Given the description of an element on the screen output the (x, y) to click on. 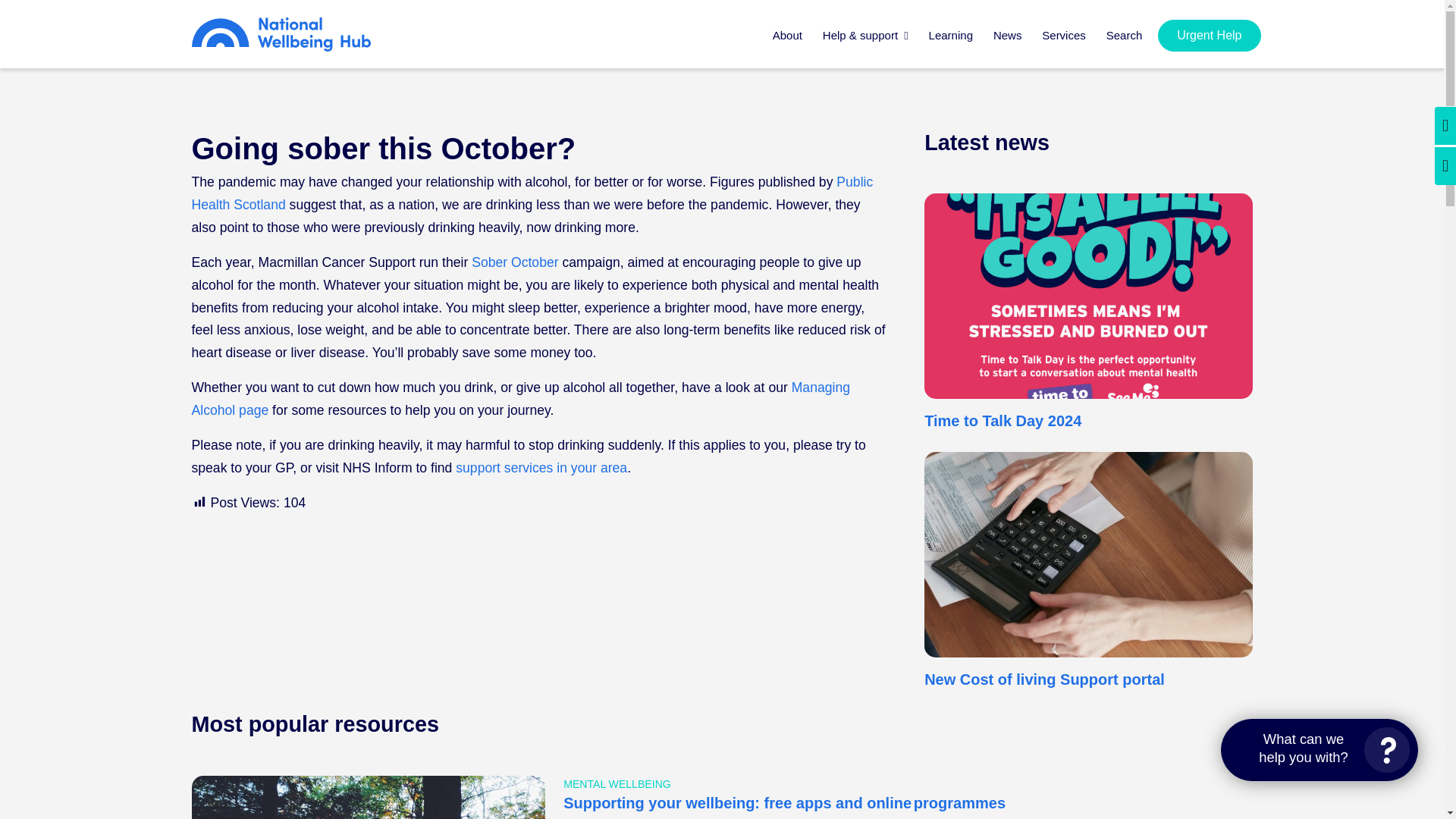
Learning (950, 44)
What can we help you with? (1319, 750)
Managing Alcohol page (519, 398)
support services in your area (541, 467)
Search (1124, 44)
Services (1063, 44)
New Cost of living Support portal (1044, 678)
Sober October (514, 262)
MENTAL WELLBEING (617, 784)
